Given the description of an element on the screen output the (x, y) to click on. 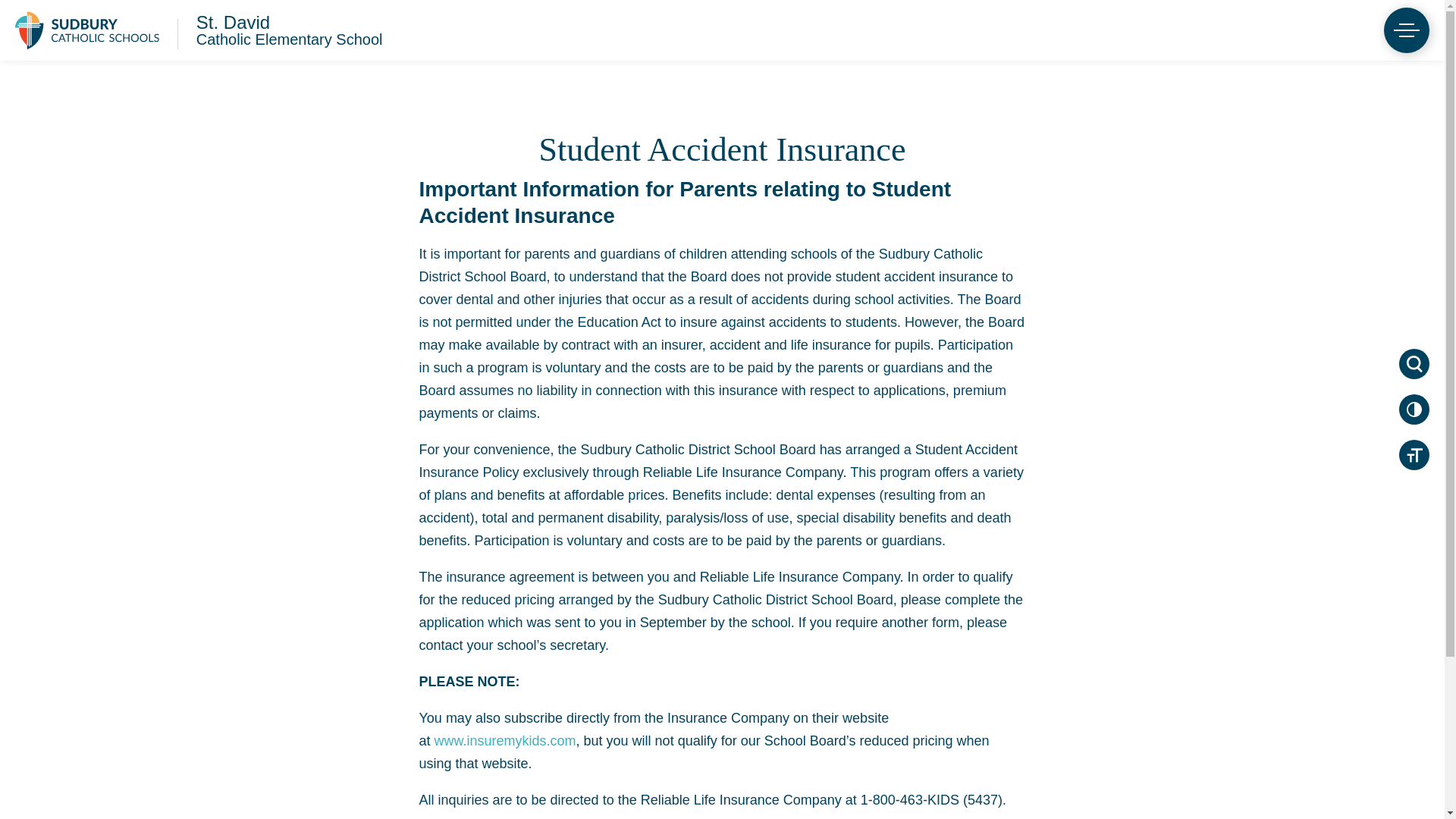
Sudbury Catholic Schools (289, 29)
